Given the description of an element on the screen output the (x, y) to click on. 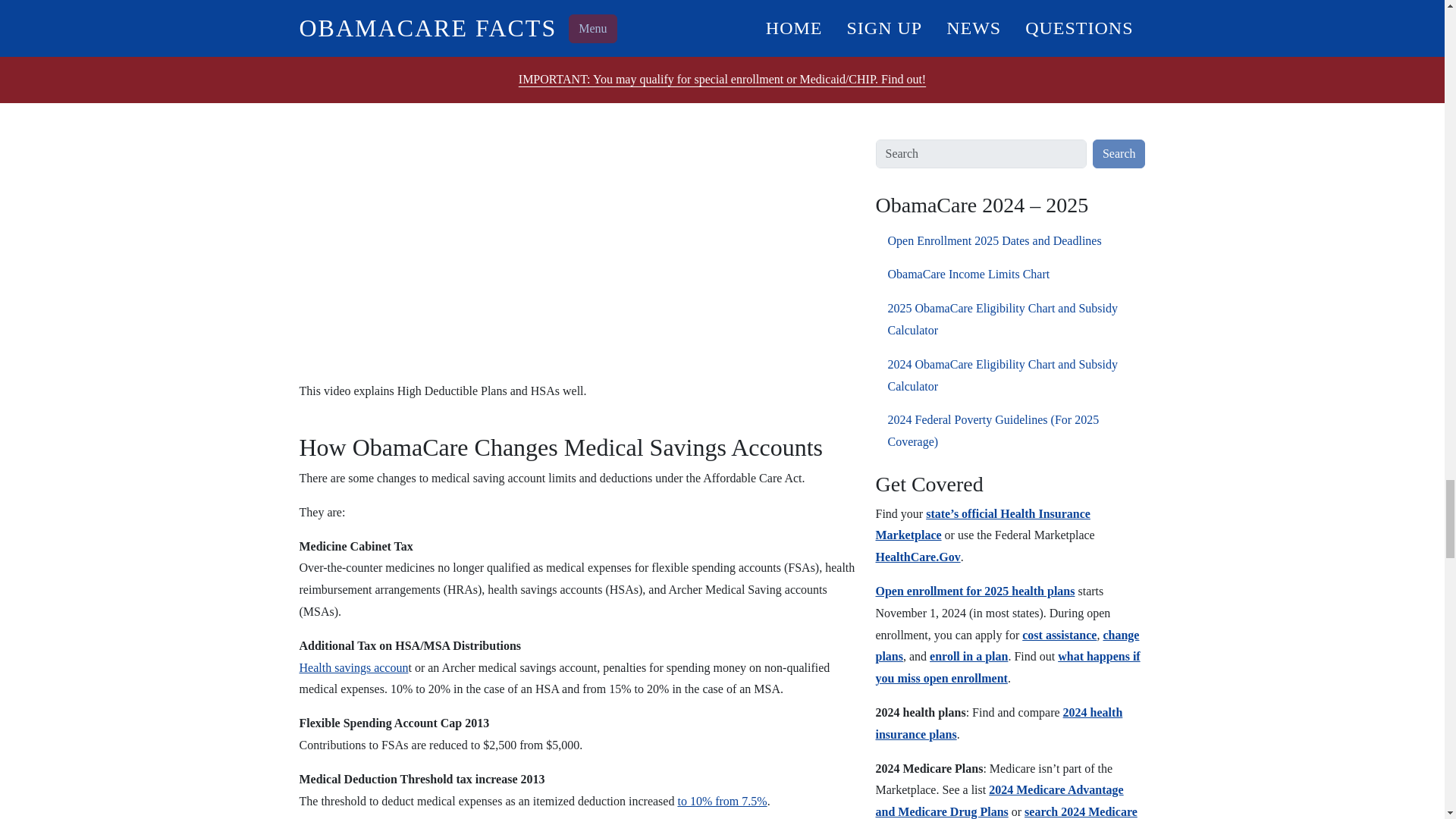
irs changes to itemized deduction of medical expenses aca (722, 800)
